Given the description of an element on the screen output the (x, y) to click on. 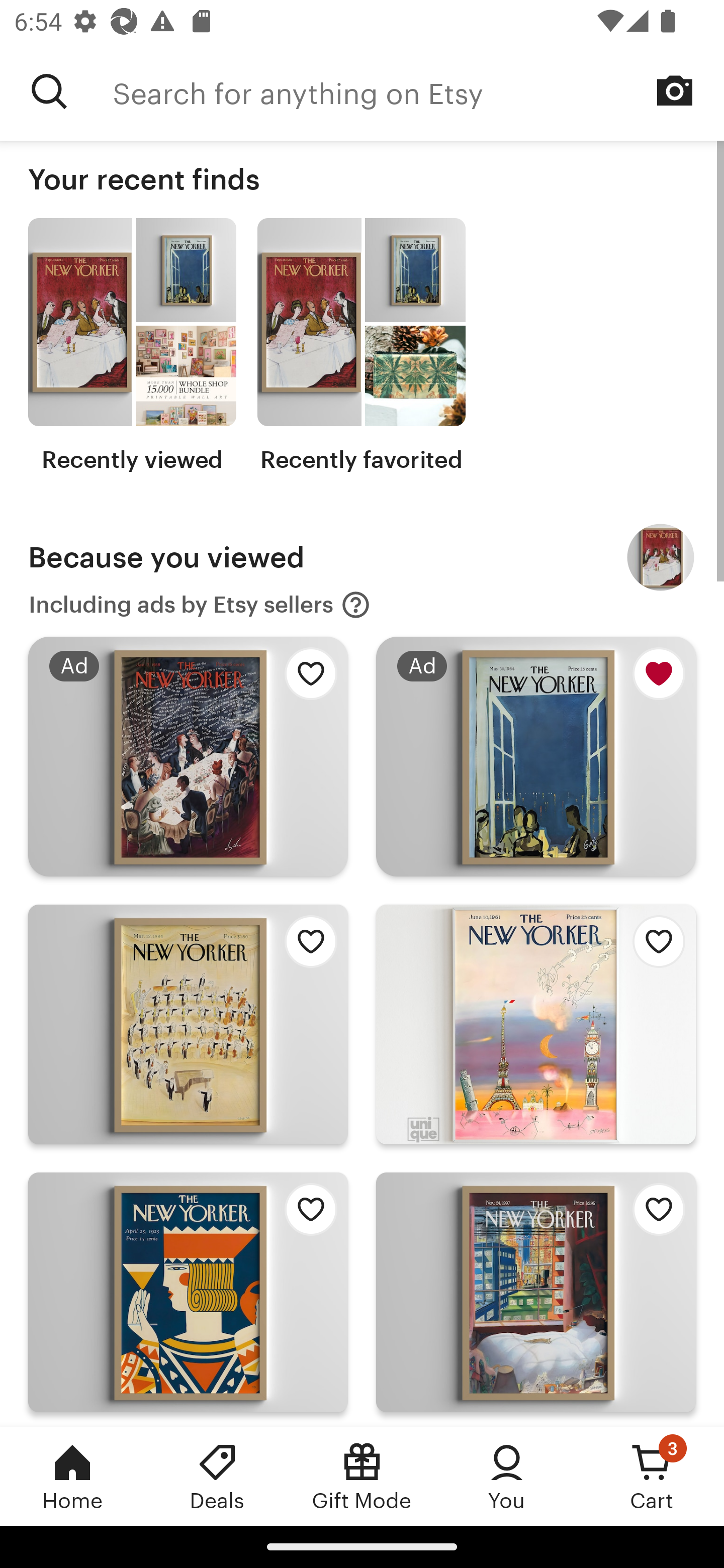
Search for anything on Etsy (49, 91)
Search by image (674, 90)
Search for anything on Etsy (418, 91)
Recently viewed (132, 345)
Recently favorited (361, 345)
Including ads by Etsy sellers (199, 604)
Deals (216, 1475)
Gift Mode (361, 1475)
You (506, 1475)
Cart, 3 new notifications Cart (651, 1475)
